Given the description of an element on the screen output the (x, y) to click on. 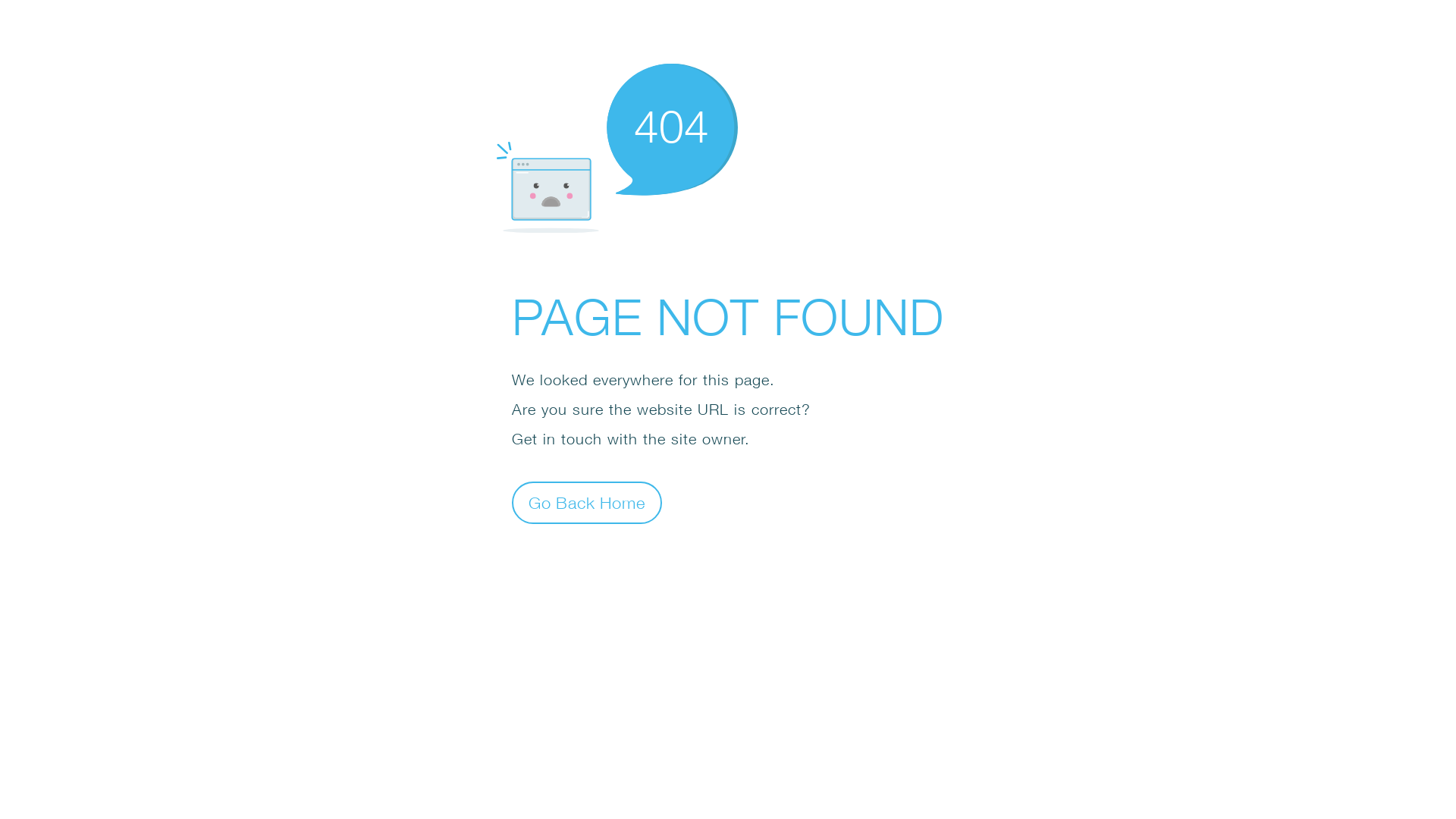
Go Back Home Element type: text (586, 502)
